Given the description of an element on the screen output the (x, y) to click on. 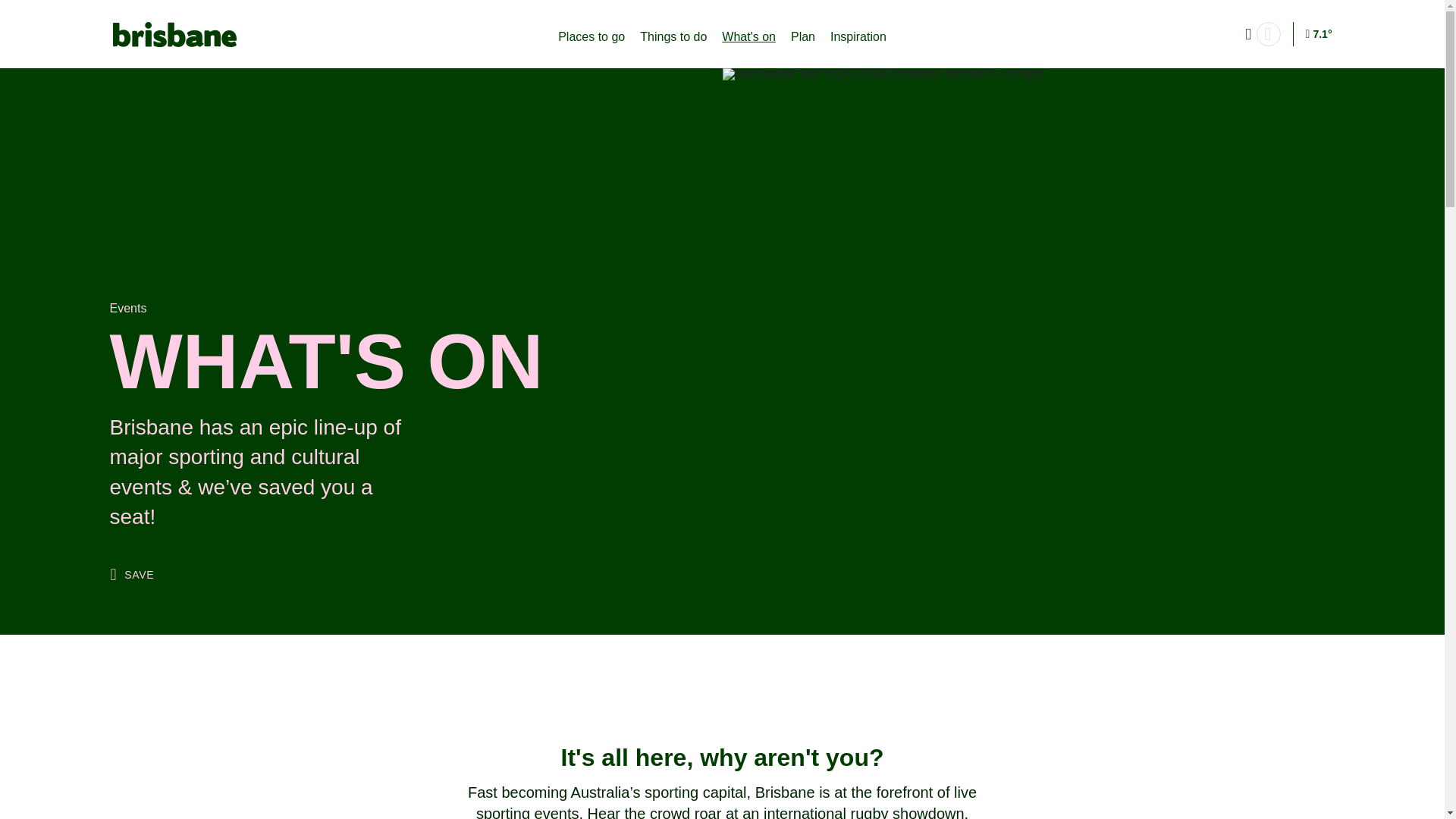
Inspiration (857, 37)
SAVE (131, 574)
Places to go (590, 37)
Open search (1268, 33)
SKIP TO MAIN CONTENT (87, 15)
Things to do (673, 37)
What's on (749, 37)
